Given the description of an element on the screen output the (x, y) to click on. 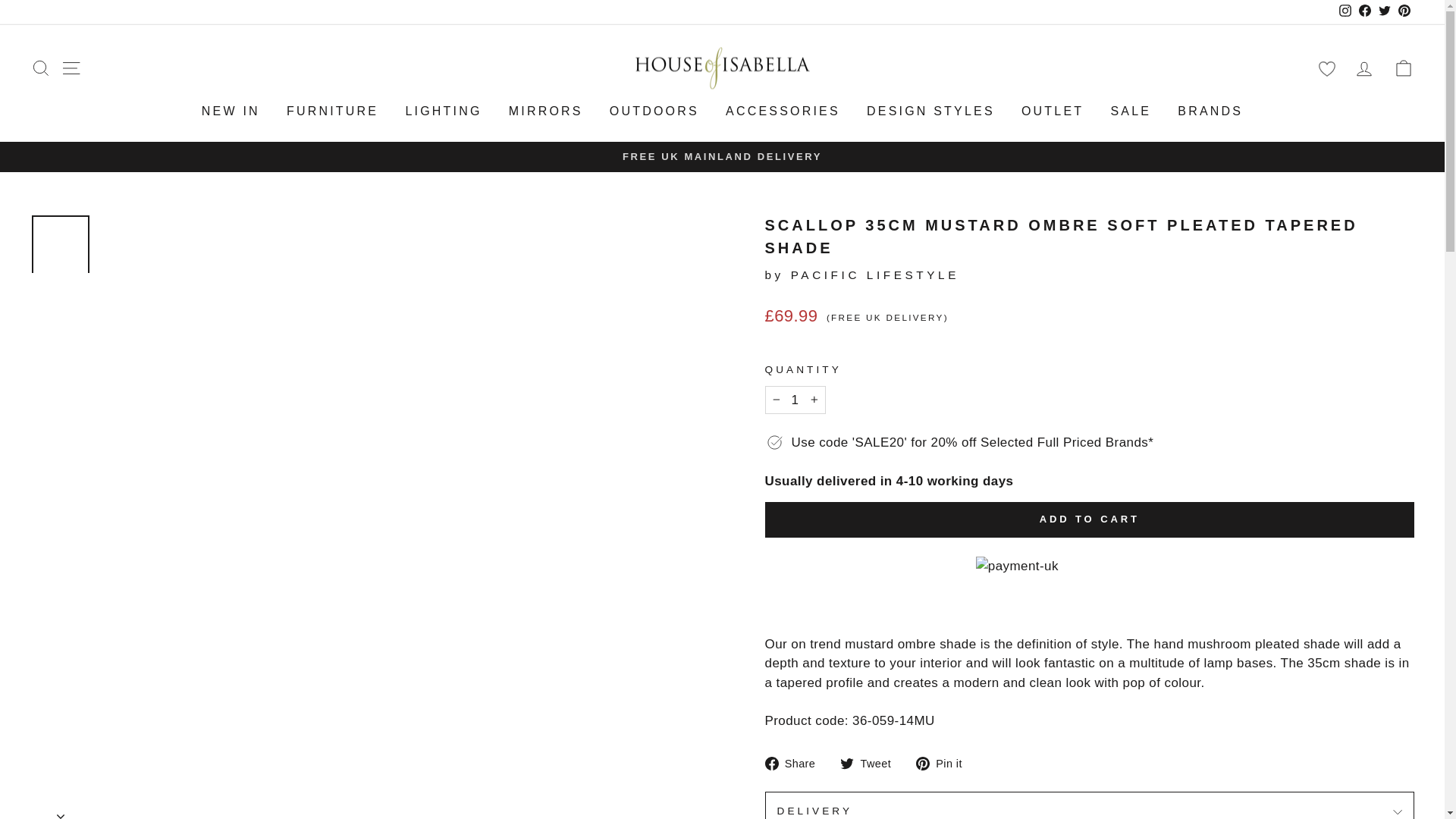
wishlist (1325, 68)
1 (794, 399)
Pin on Pinterest (944, 763)
Tweet on Twitter (871, 763)
Share on Facebook (795, 763)
